Given the description of an element on the screen output the (x, y) to click on. 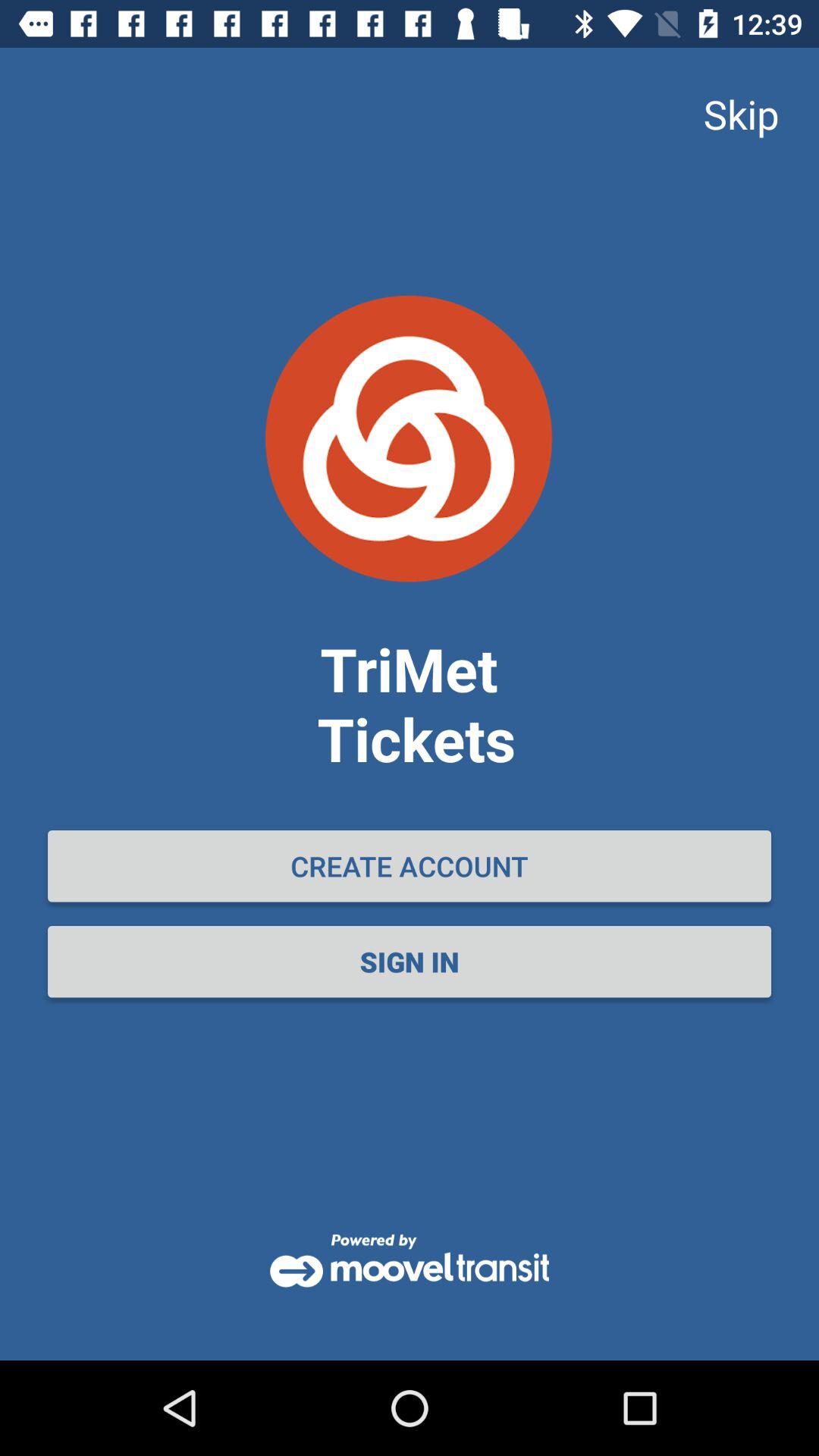
tap the icon below the create account icon (409, 961)
